Given the description of an element on the screen output the (x, y) to click on. 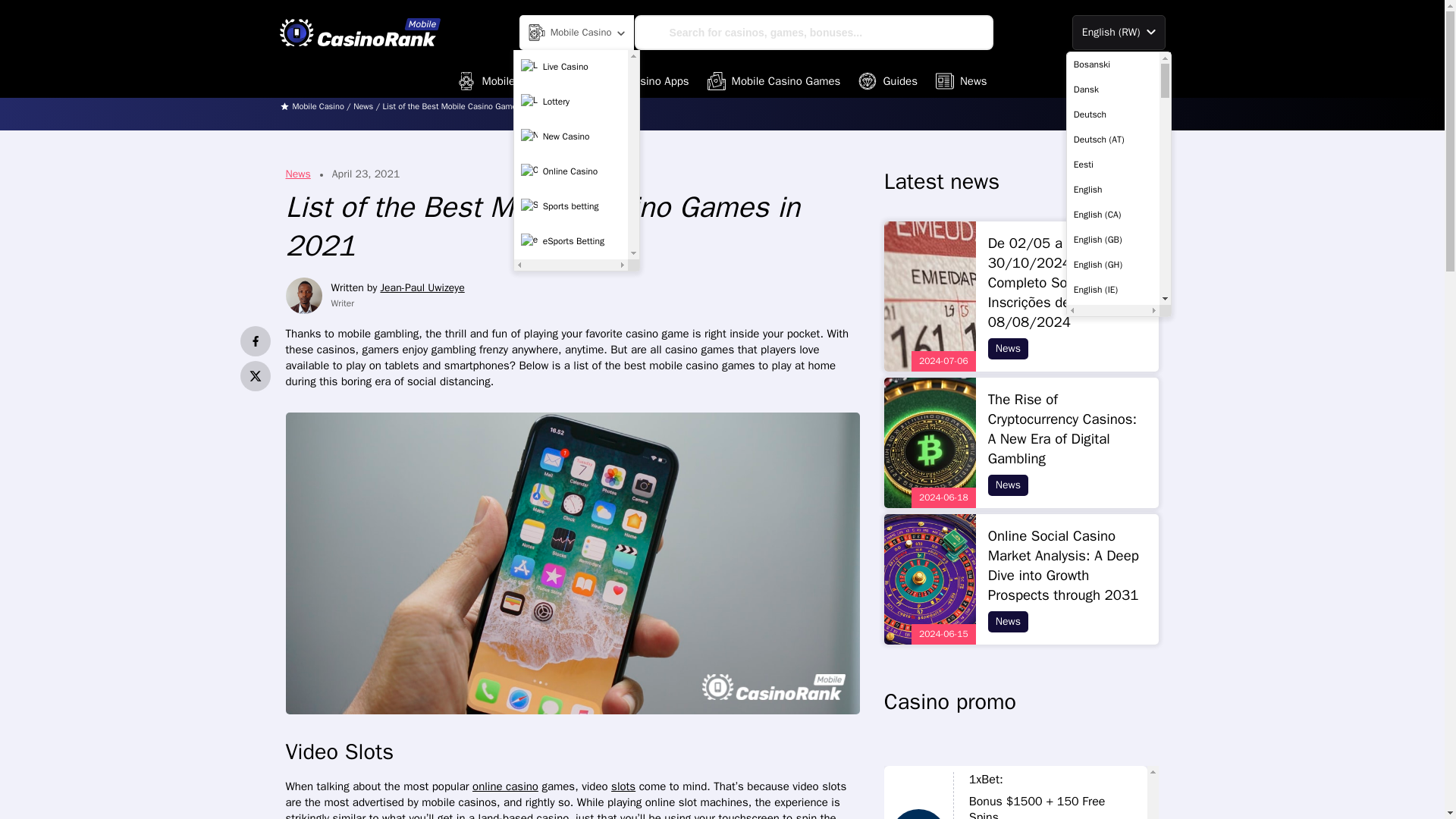
Bosanski (1113, 63)
New Casino (571, 136)
Hrvatski (1113, 810)
Lottery (571, 102)
eSports Betting (571, 241)
Online Casino (571, 172)
Sports betting (571, 206)
Dansk (1113, 89)
English (1113, 189)
Deutsch (1113, 113)
Eesti (1113, 163)
Live Casino (571, 67)
